Given the description of an element on the screen output the (x, y) to click on. 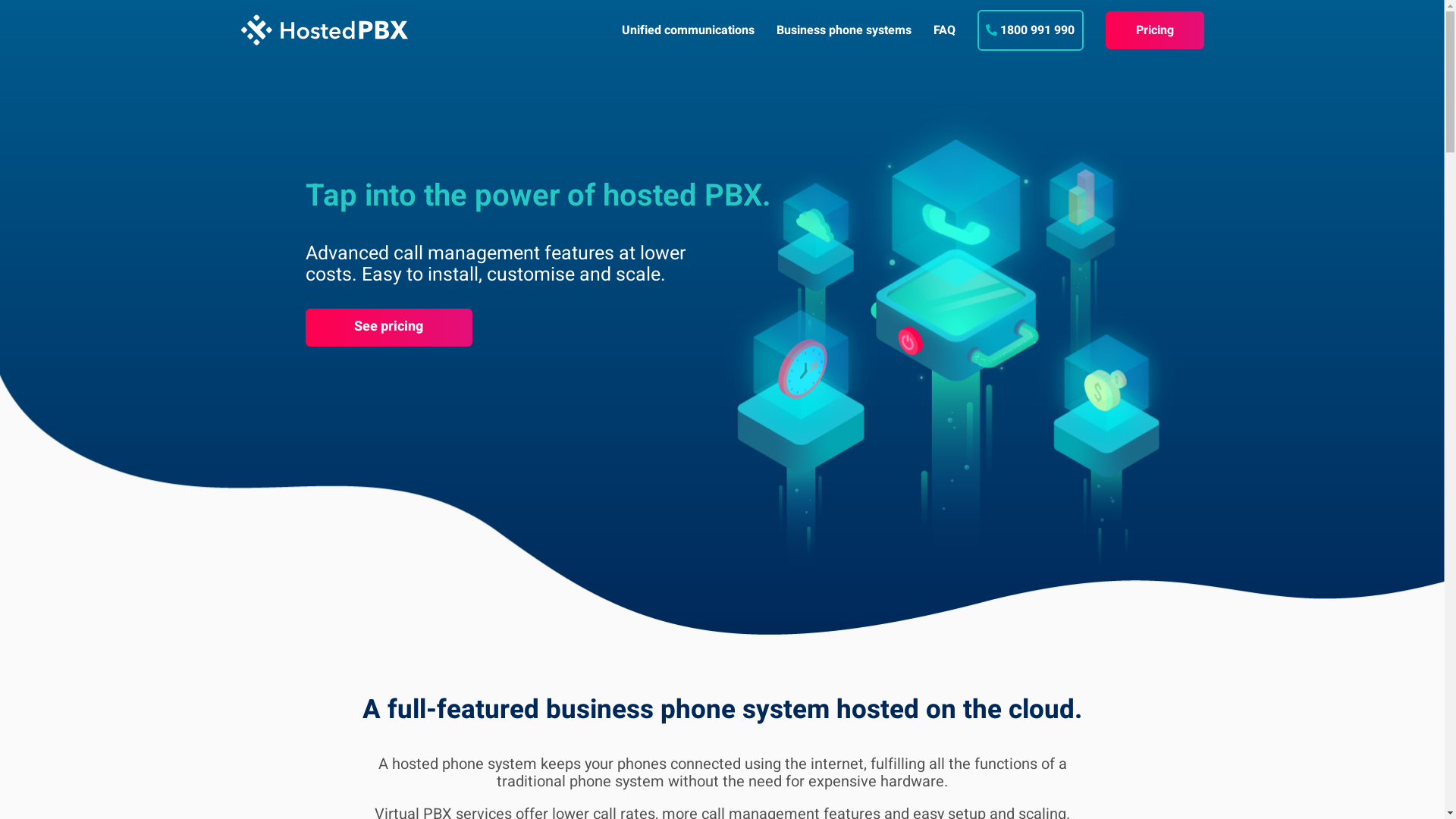
1800 991 990 Element type: text (1037, 30)
Business phone systems Element type: text (843, 30)
See pricing Element type: text (387, 327)
Pricing Element type: text (1154, 30)
FAQ Element type: text (944, 30)
Unified communications Element type: text (687, 30)
See pricing Element type: text (387, 326)
